Given the description of an element on the screen output the (x, y) to click on. 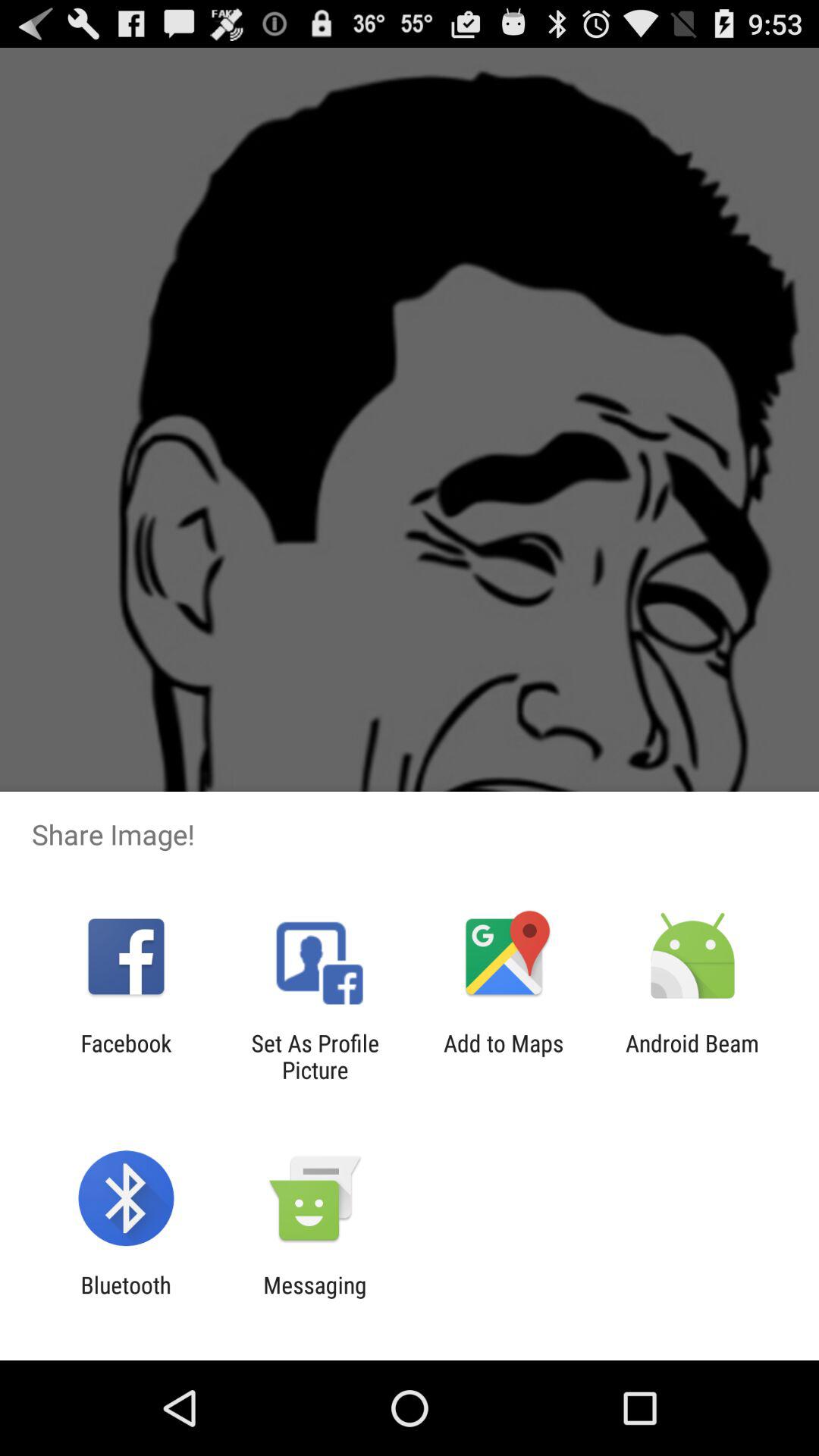
choose the app to the right of set as profile app (503, 1056)
